Given the description of an element on the screen output the (x, y) to click on. 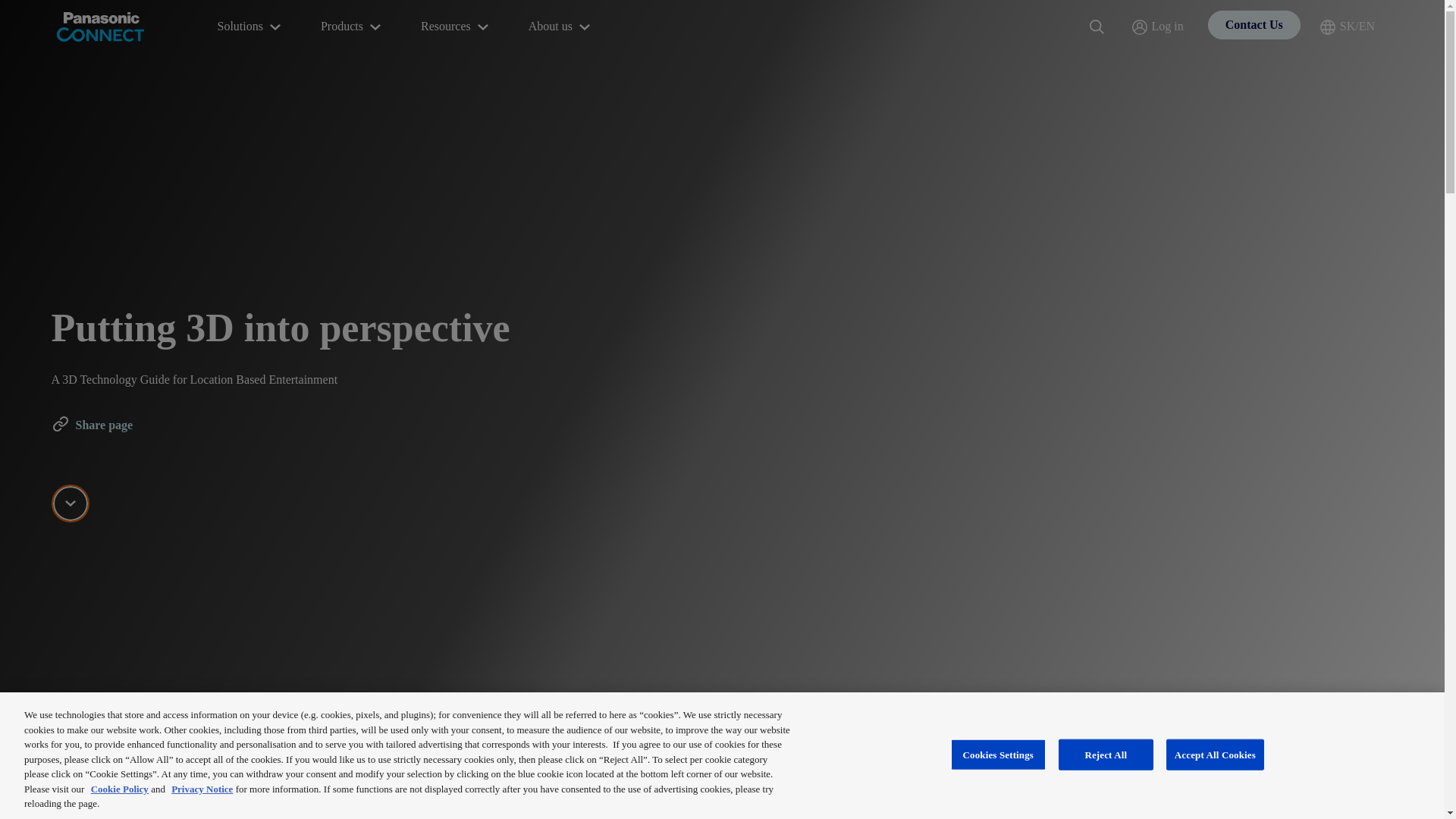
About us (560, 26)
Solutions (250, 26)
Products (352, 26)
Resources (455, 26)
